Given the description of an element on the screen output the (x, y) to click on. 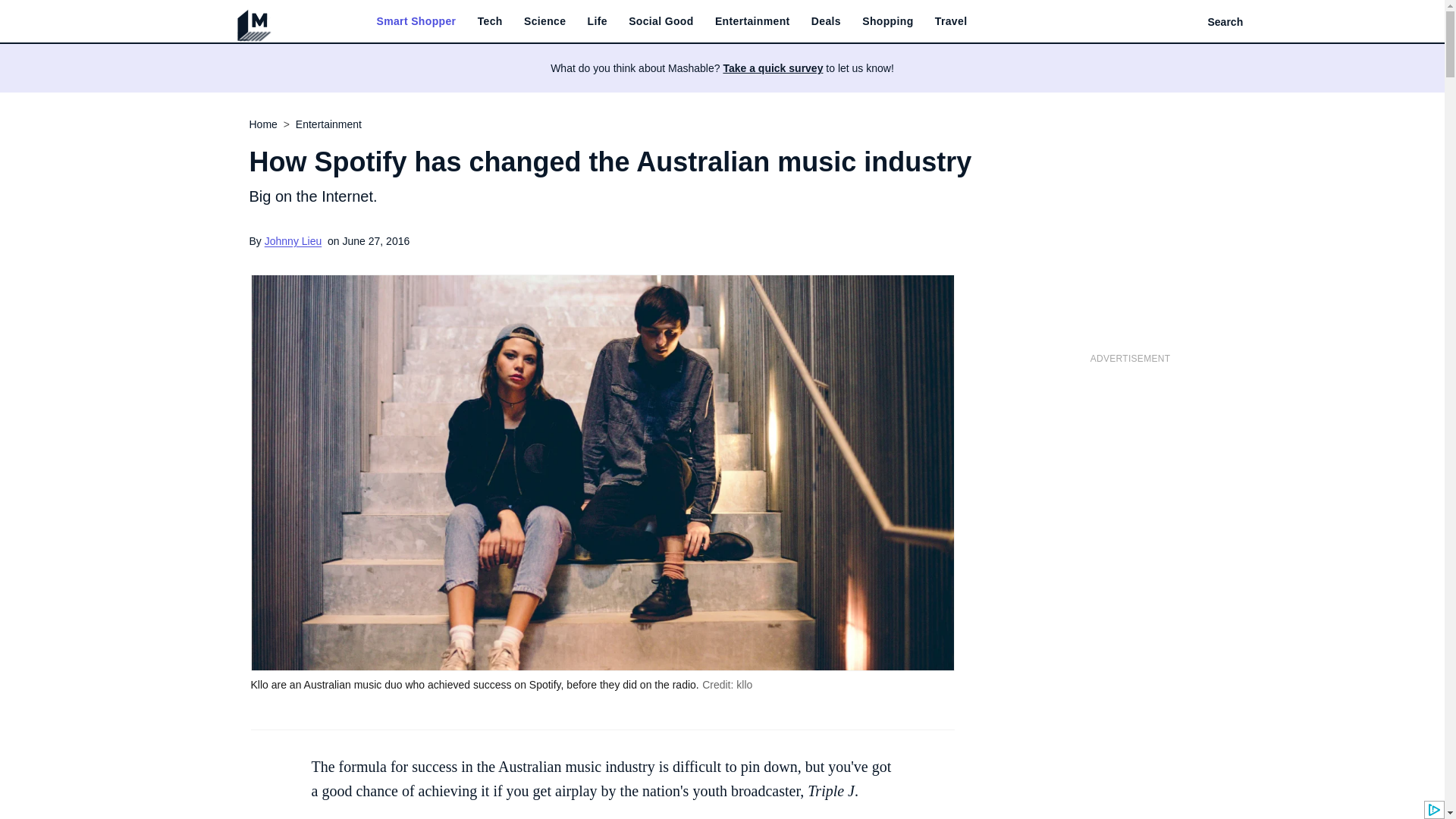
Social Good (661, 21)
Smart Shopper (415, 21)
Travel (951, 21)
Life (597, 21)
Deals (825, 21)
Shopping (886, 21)
Tech (489, 21)
Entertainment (752, 21)
Science (545, 21)
